Given the description of an element on the screen output the (x, y) to click on. 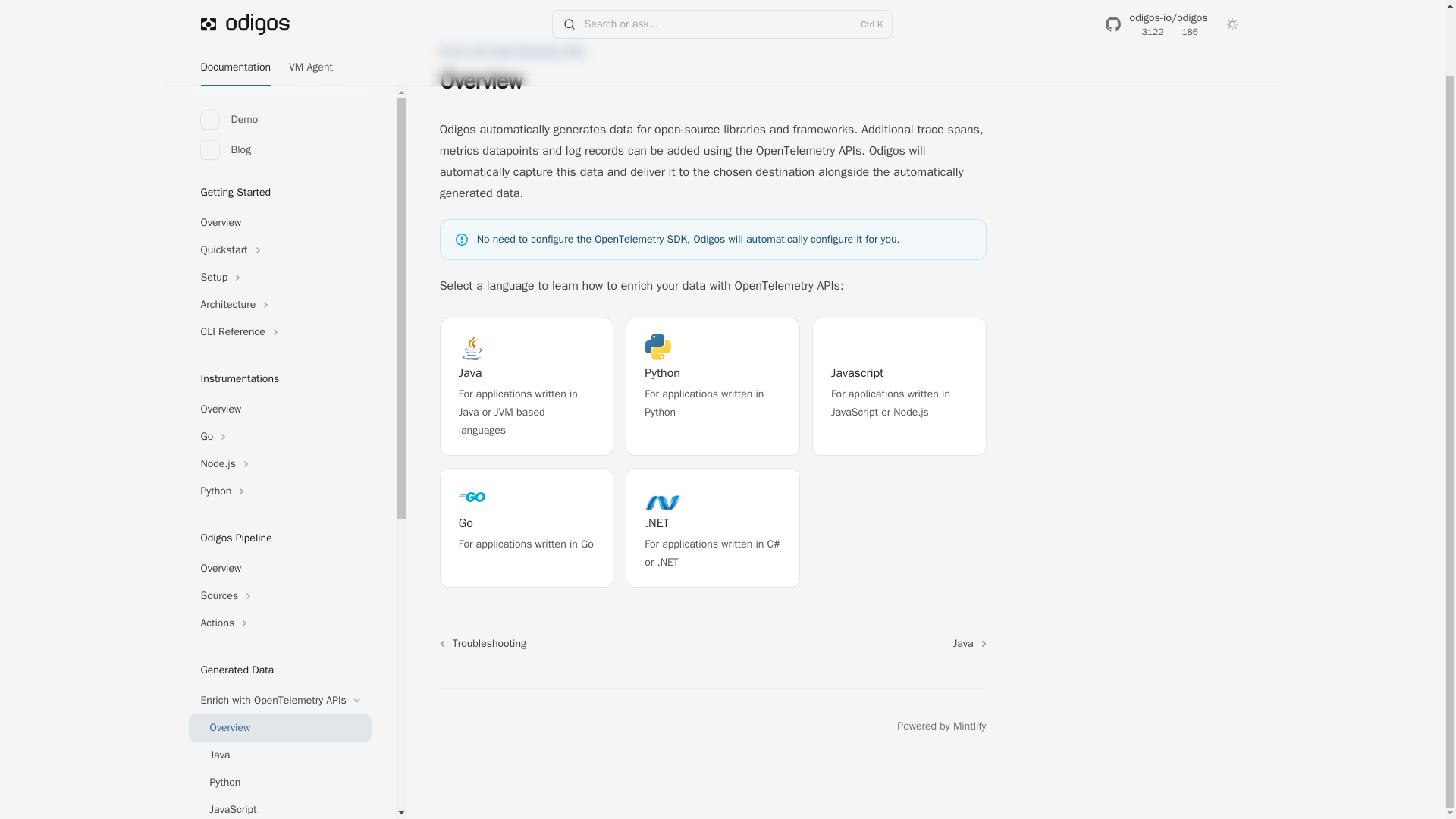
Go (279, 764)
slack (712, 386)
Blog (480, 726)
Overview (279, 77)
JavaScript (279, 655)
VM Agent (279, 737)
Java (310, 6)
github (279, 682)
Documentation (446, 726)
Overview (235, 6)
Powered by Mintlify (279, 496)
Overview (940, 726)
Overview (279, 150)
